Given the description of an element on the screen output the (x, y) to click on. 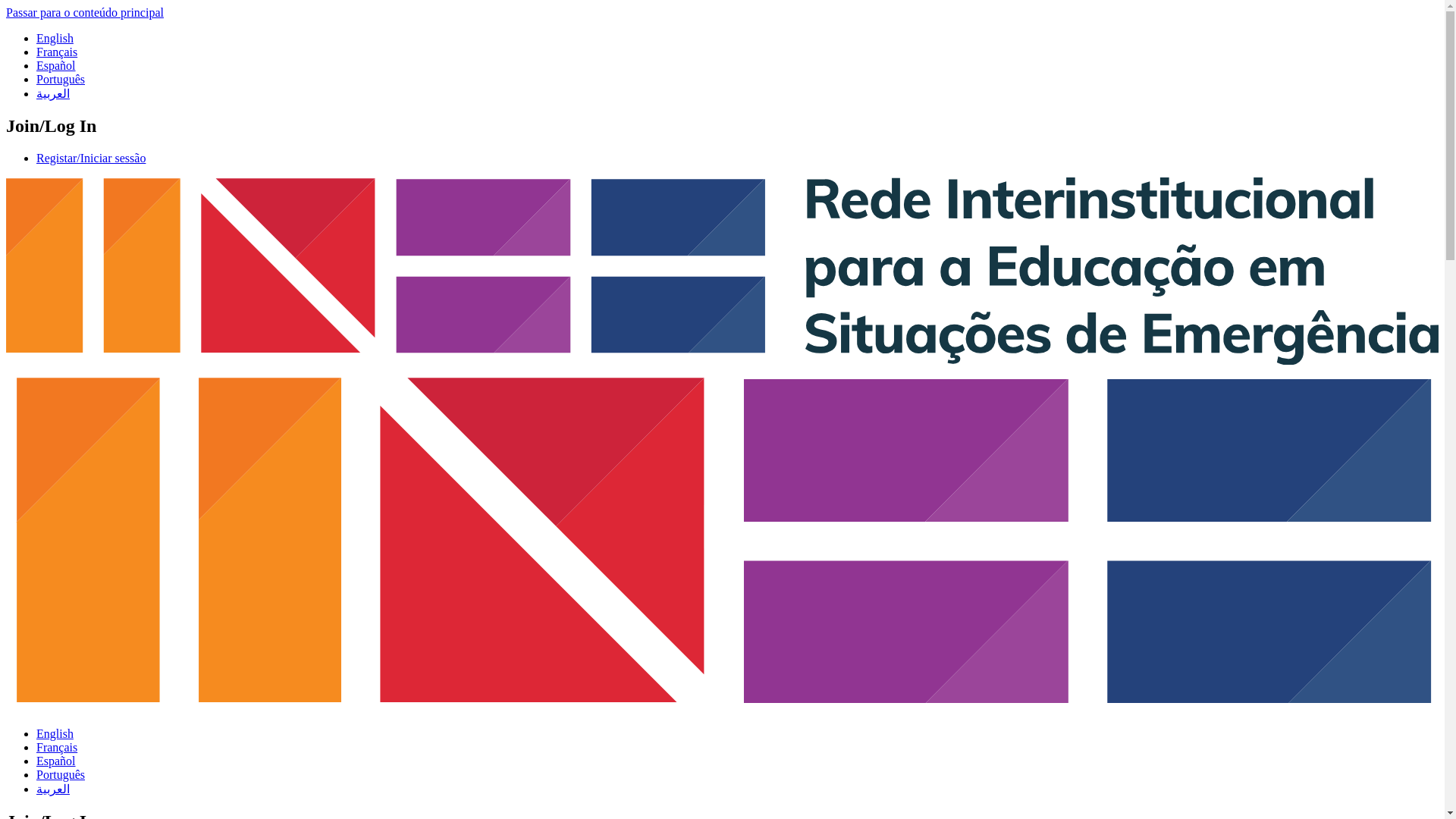
English (55, 733)
English (55, 38)
